Given the description of an element on the screen output the (x, y) to click on. 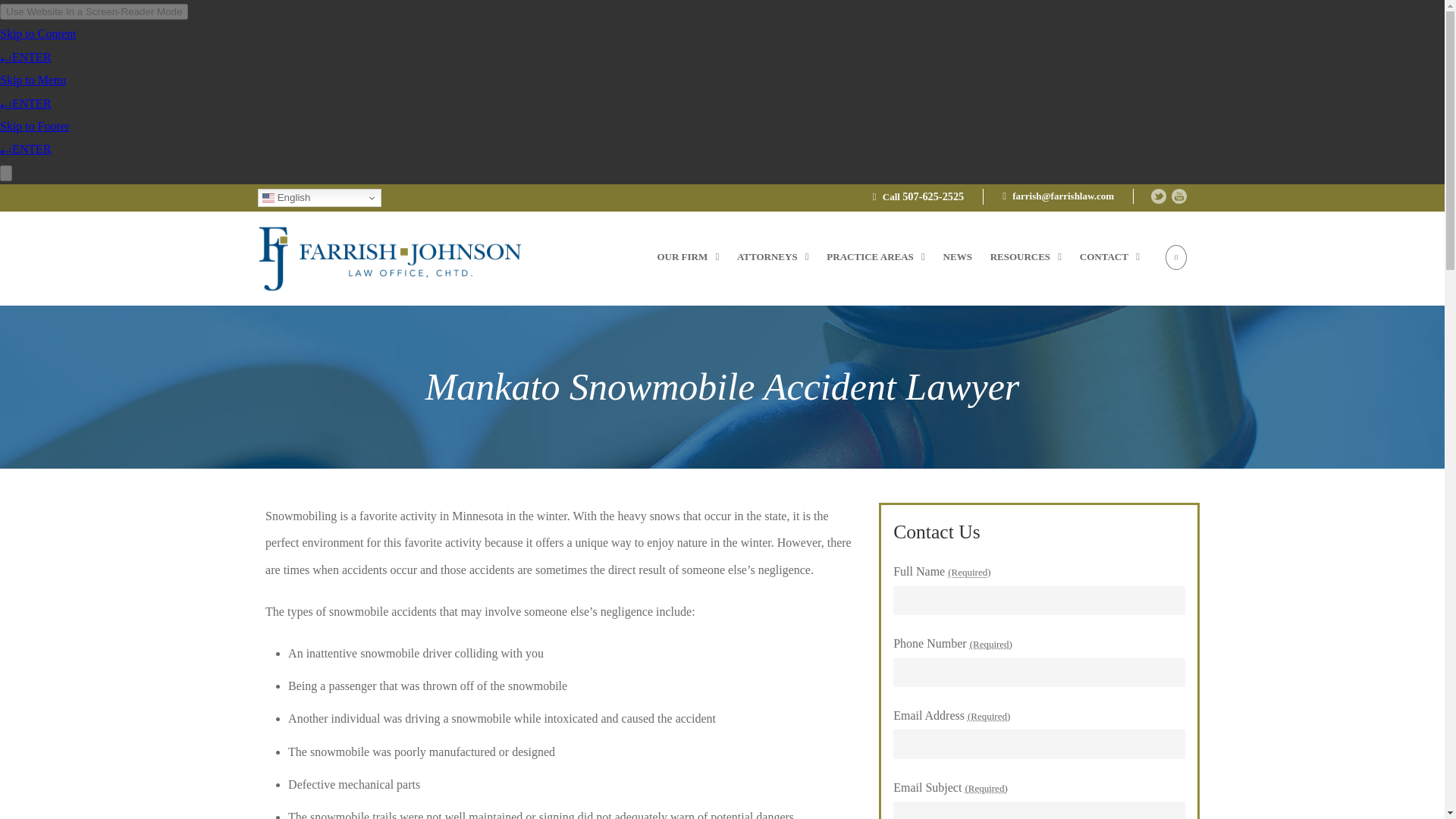
required (985, 787)
English (319, 198)
required (968, 572)
required (990, 644)
required (989, 715)
